Given the description of an element on the screen output the (x, y) to click on. 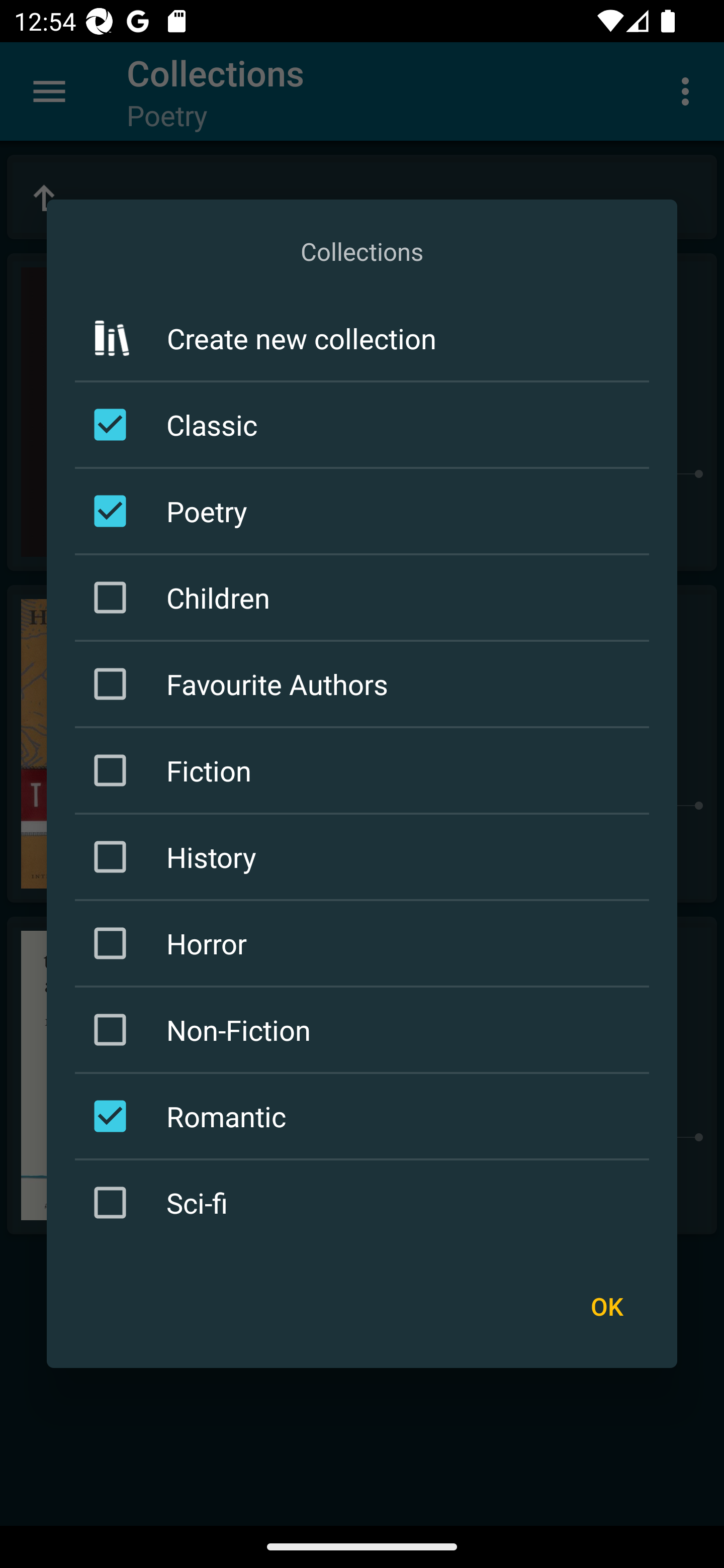
Create new collection (361, 338)
Classic (365, 424)
Poetry (365, 510)
Children (365, 597)
Favourite Authors (365, 683)
Fiction (365, 769)
History (365, 856)
Horror (365, 943)
Non-Fiction (365, 1029)
Romantic (365, 1116)
Sci-fi (365, 1202)
OK (606, 1306)
